Given the description of an element on the screen output the (x, y) to click on. 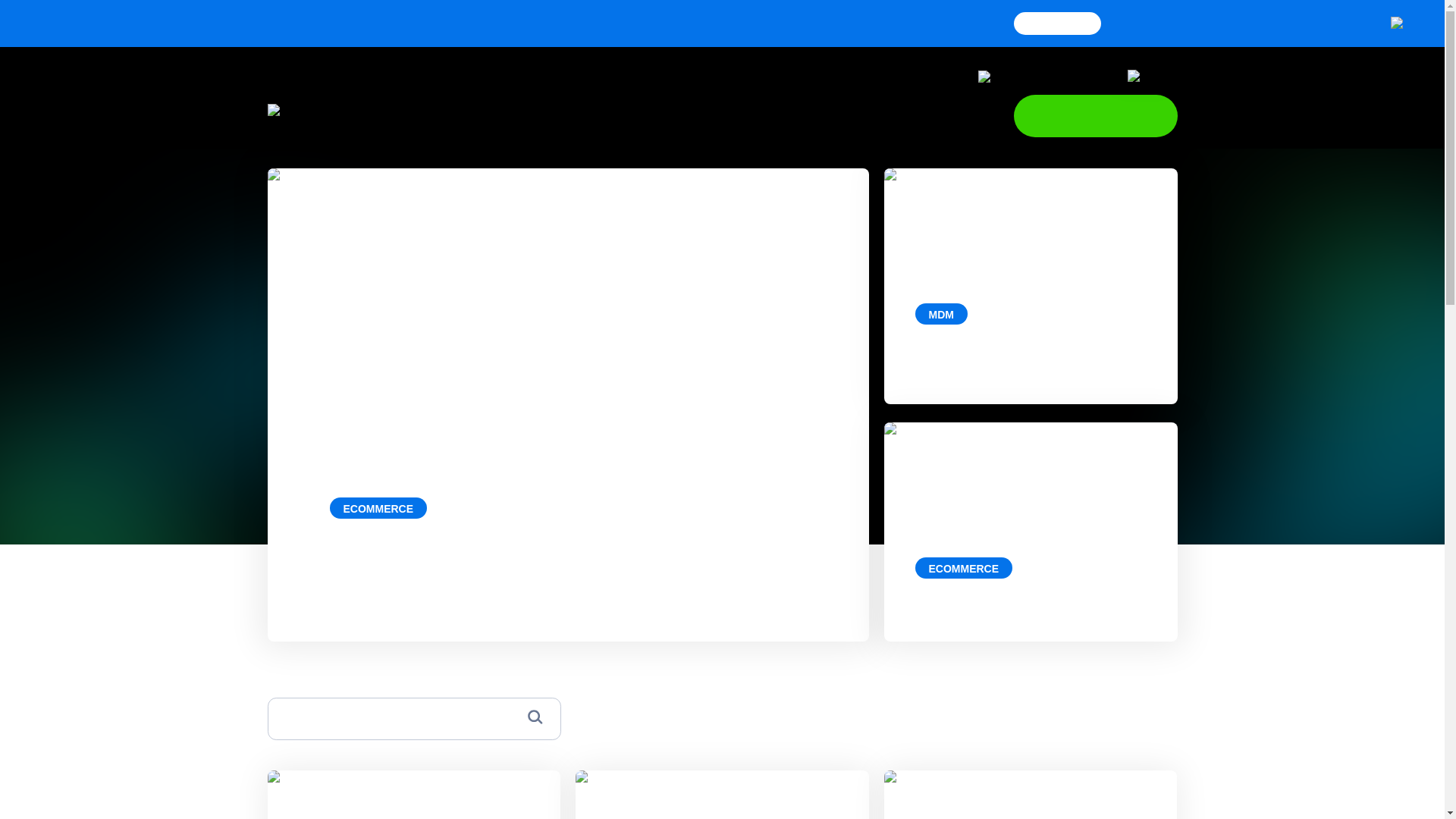
Sign in (1107, 76)
Resources (860, 115)
Solutions (601, 115)
Support (1024, 76)
Get It Now (1056, 23)
Syndigo (330, 115)
Contact (1068, 76)
Who we help (691, 115)
Partners (778, 115)
